Given the description of an element on the screen output the (x, y) to click on. 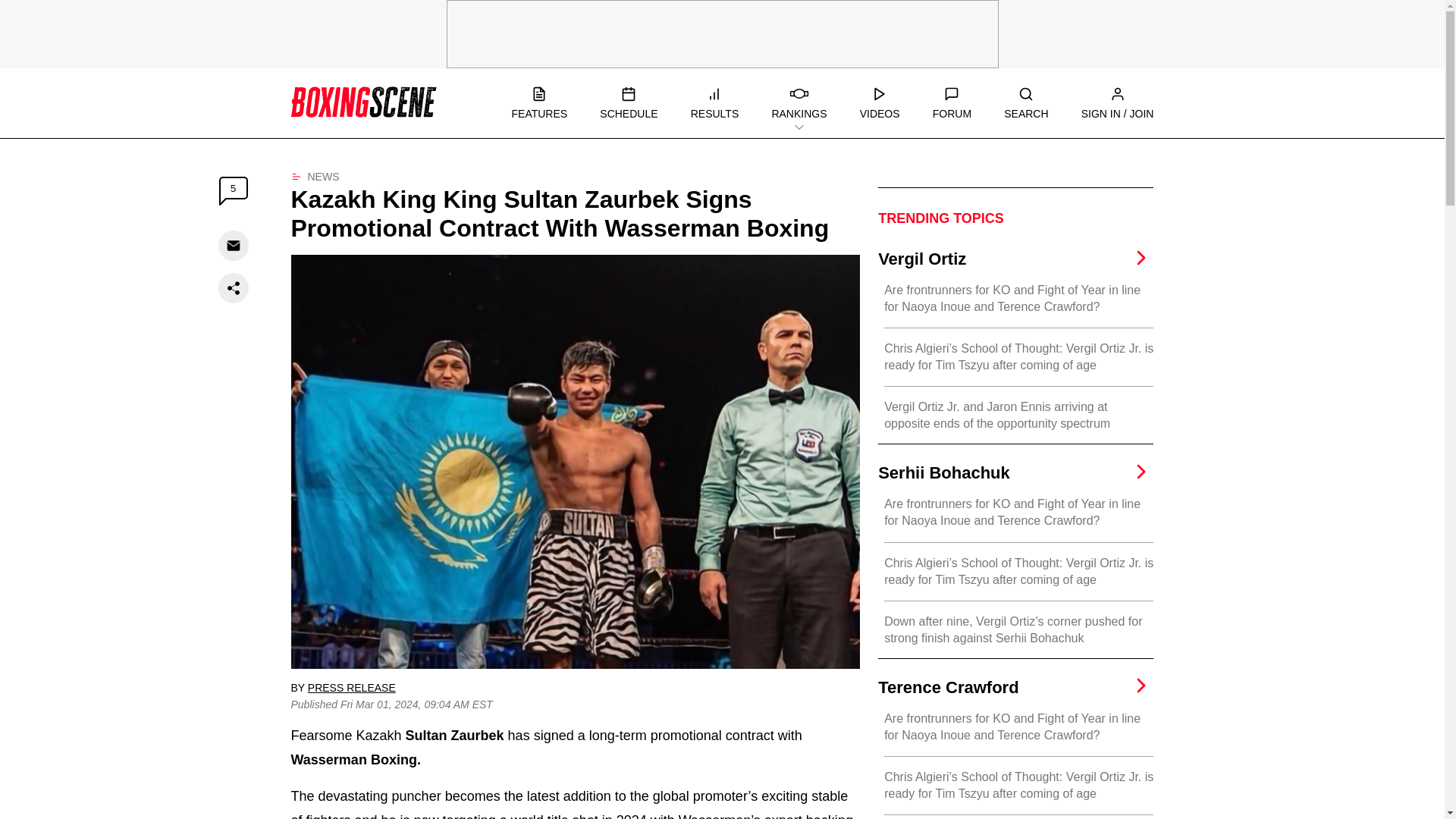
SCHEDULE (628, 102)
RESULTS (714, 102)
SEARCH (1026, 102)
5 (233, 191)
FORUM (952, 102)
PRESS RELEASE (351, 687)
RANKINGS (799, 102)
VIDEOS (879, 102)
FEATURES (539, 102)
3rd party ad content (721, 33)
